Given the description of an element on the screen output the (x, y) to click on. 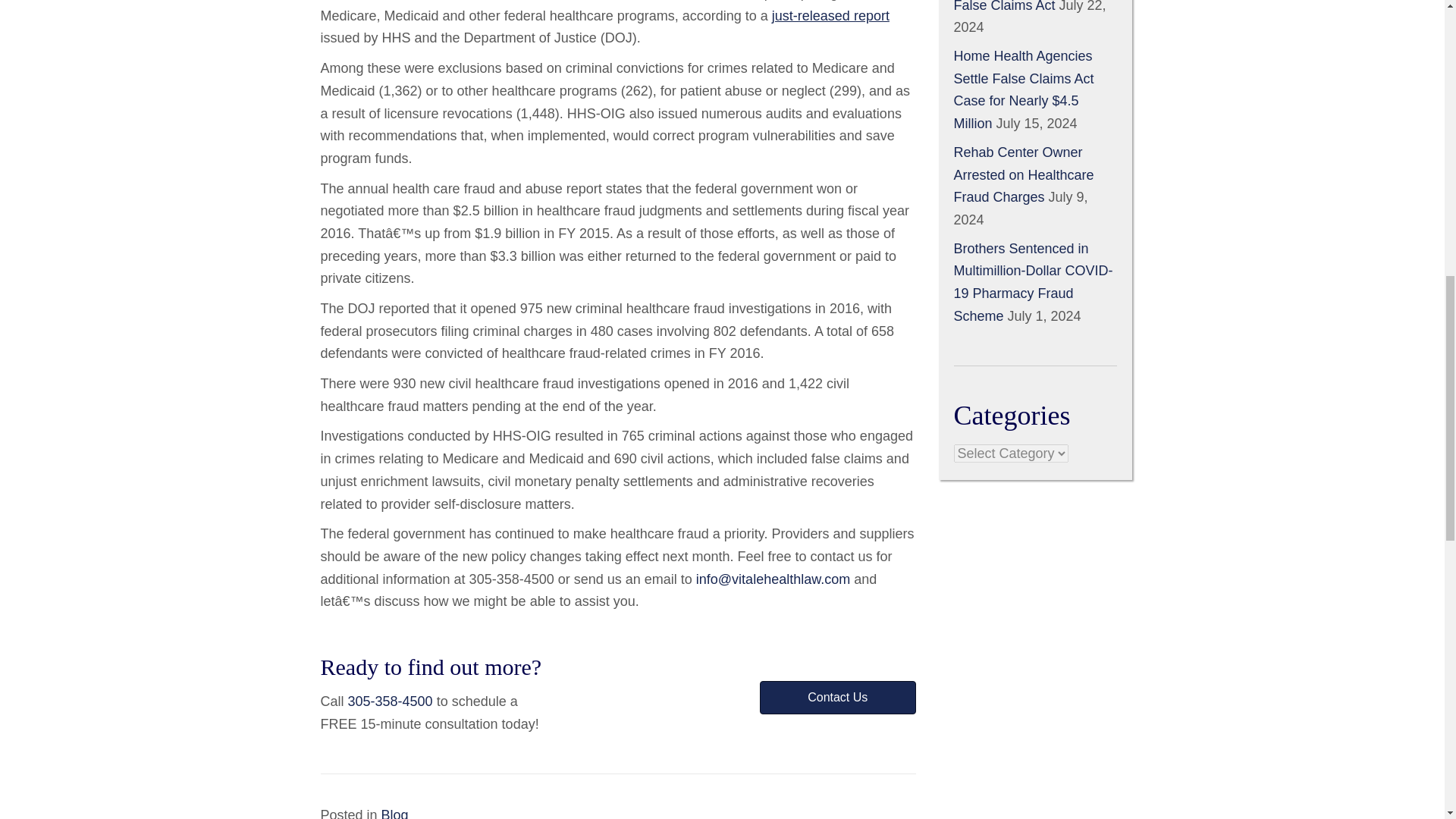
Contact Us (837, 697)
Rehab Center Owner Arrested on Healthcare Fraud Charges (1023, 174)
305-358-4500 (389, 701)
just-released report (830, 15)
Blog (395, 813)
